Given the description of an element on the screen output the (x, y) to click on. 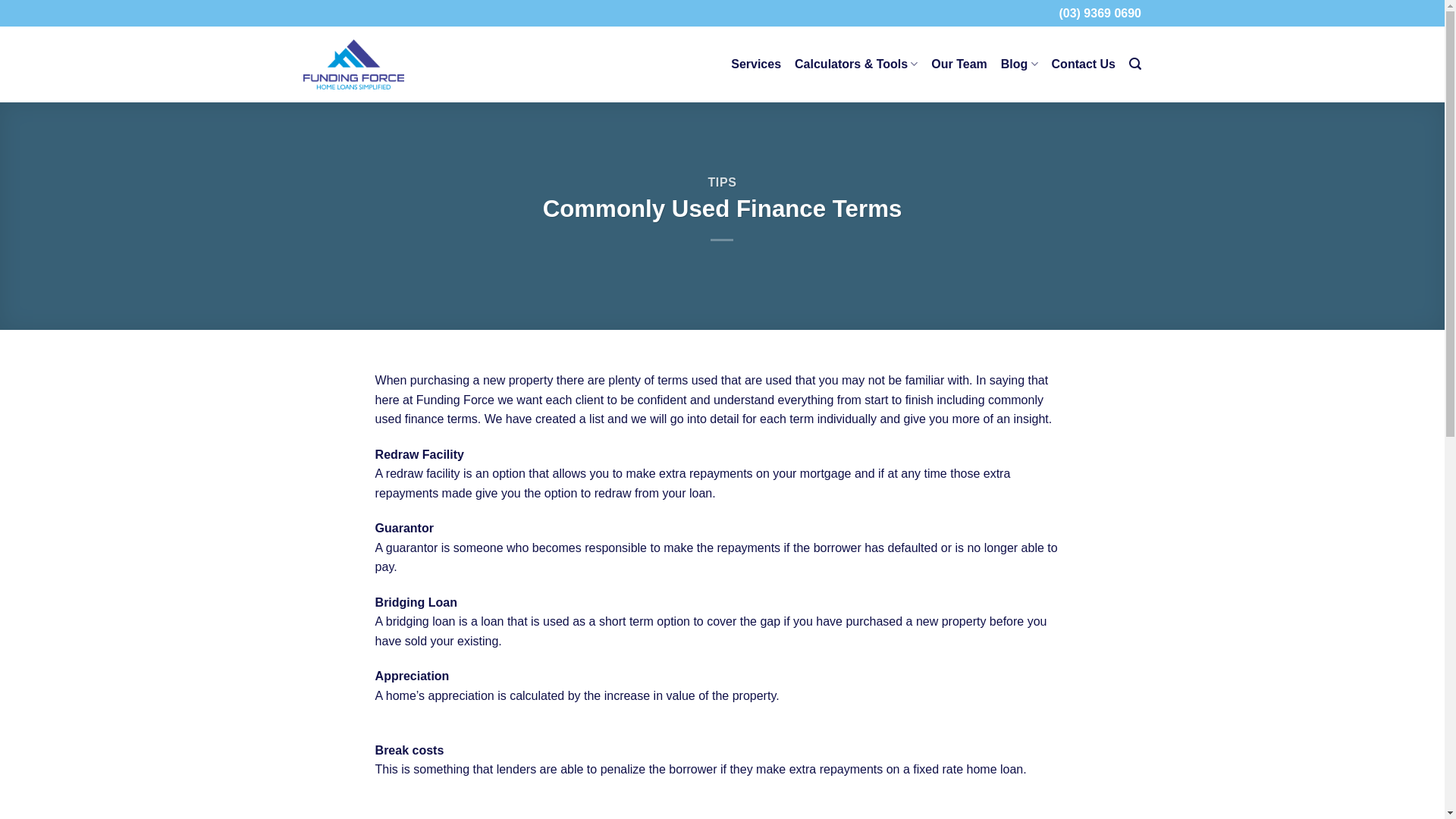
Our Team Element type: text (959, 64)
(03) 9369 0690 Element type: text (1099, 12)
Blog Element type: text (1019, 63)
TIPS Element type: text (721, 181)
Contact Us Element type: text (1083, 64)
Funding Force Element type: hover (353, 63)
Services Element type: text (756, 64)
Calculators & Tools Element type: text (855, 63)
